Given the description of an element on the screen output the (x, y) to click on. 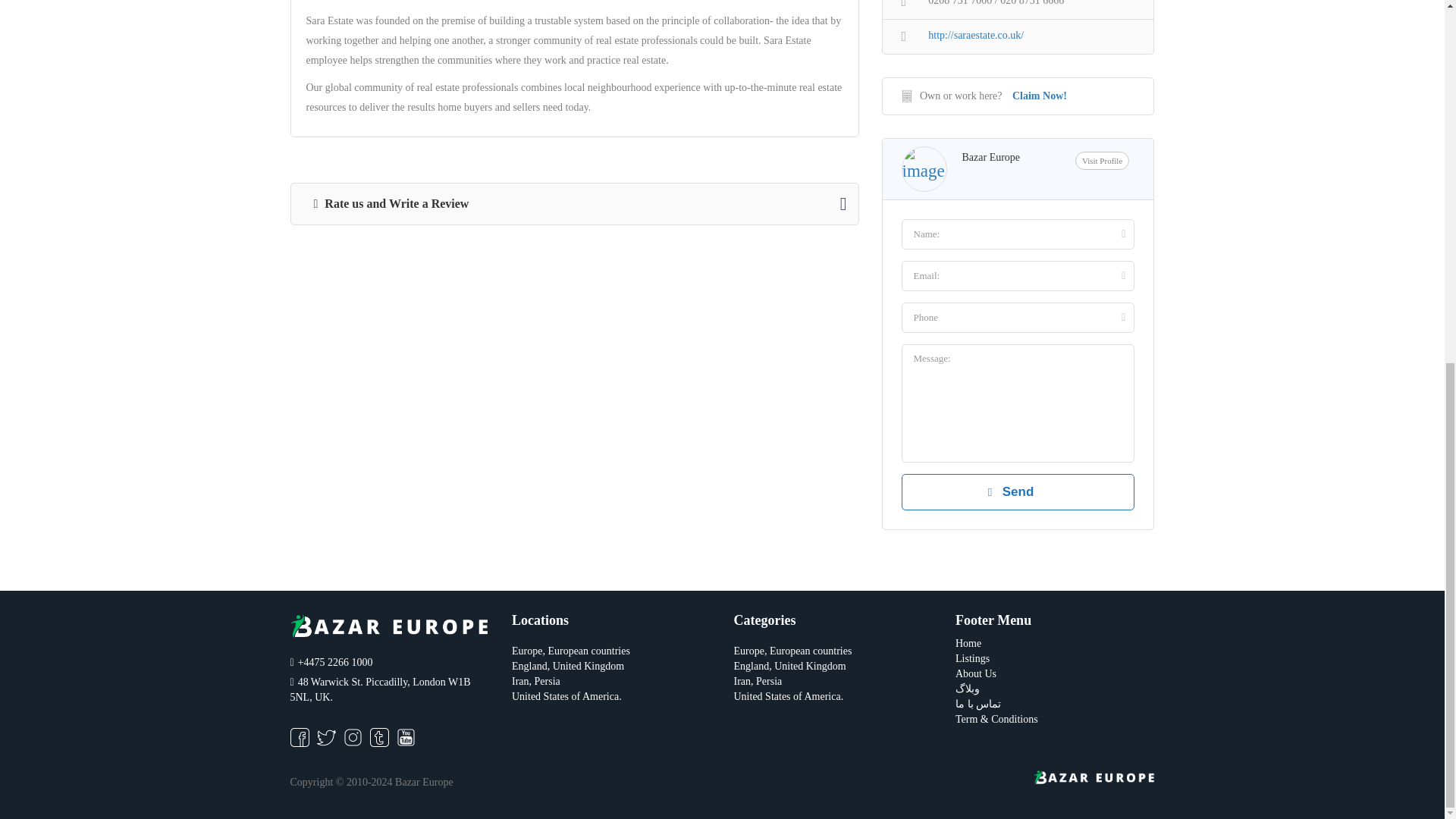
Send (1017, 492)
